Given the description of an element on the screen output the (x, y) to click on. 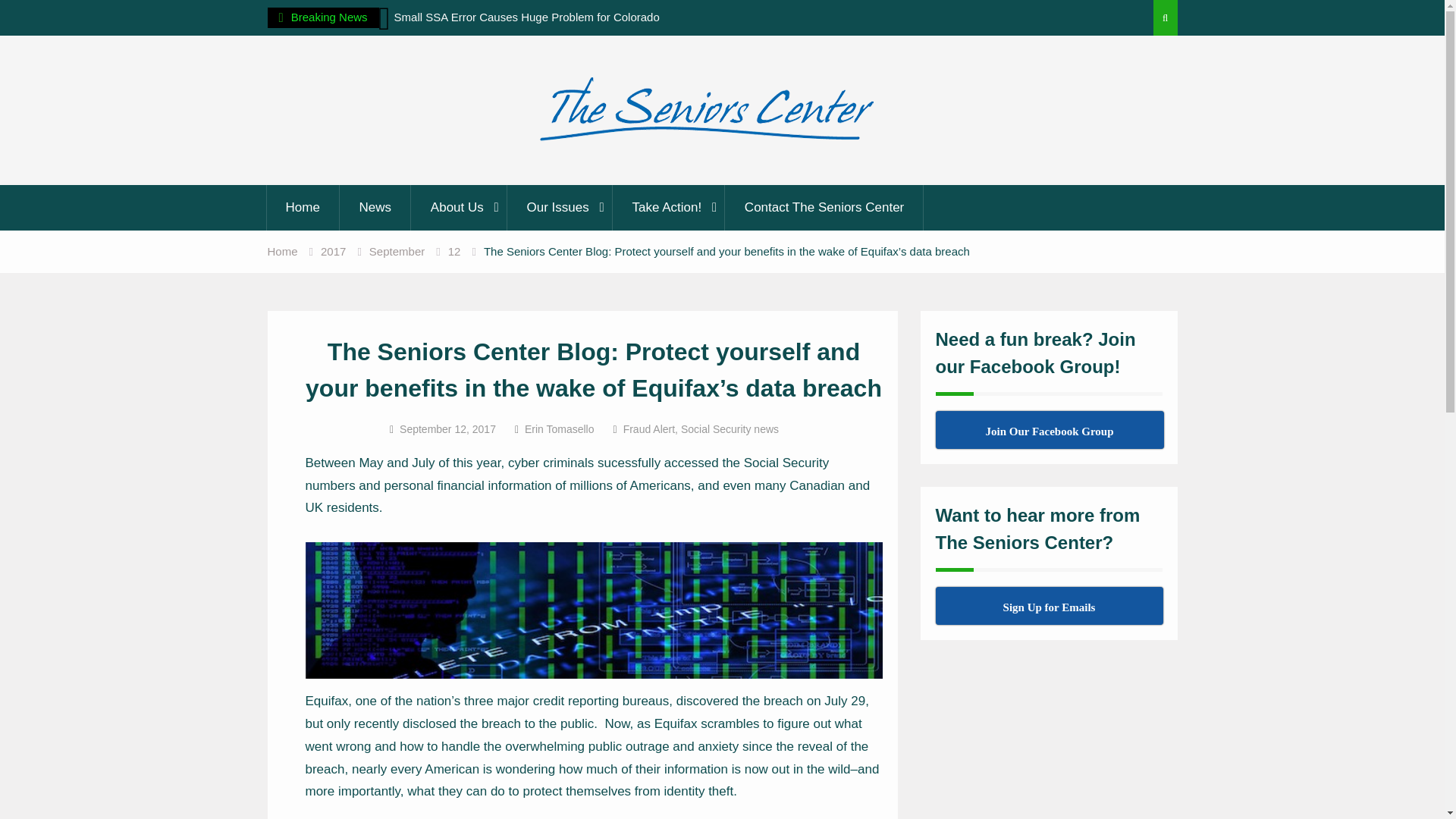
News (376, 207)
Our Issues (560, 207)
About Us (459, 207)
Beat the Heat This Summer: 5 Tips to Avoid Heatstroke (243, 27)
Take Action! (668, 207)
Home (301, 207)
Small SSA Error Causes Huge Problem for Colorado Woman (531, 27)
